Given the description of an element on the screen output the (x, y) to click on. 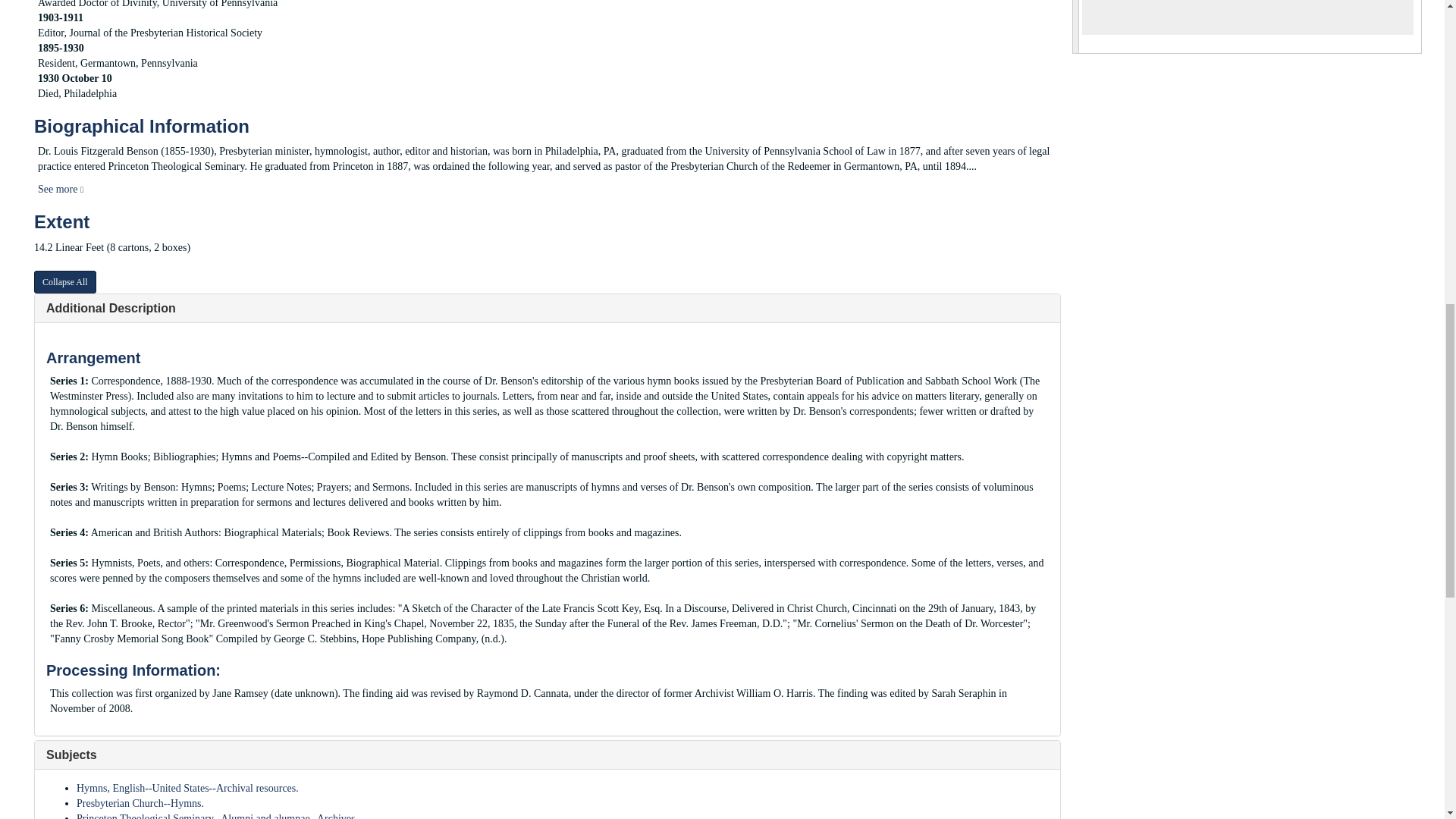
Subjects (71, 754)
Collapse All (64, 282)
See more (59, 188)
Presbyterian Church--Hymns. (140, 803)
Additional Description (111, 308)
Hymns, English--United States--Archival resources. (187, 787)
